Given the description of an element on the screen output the (x, y) to click on. 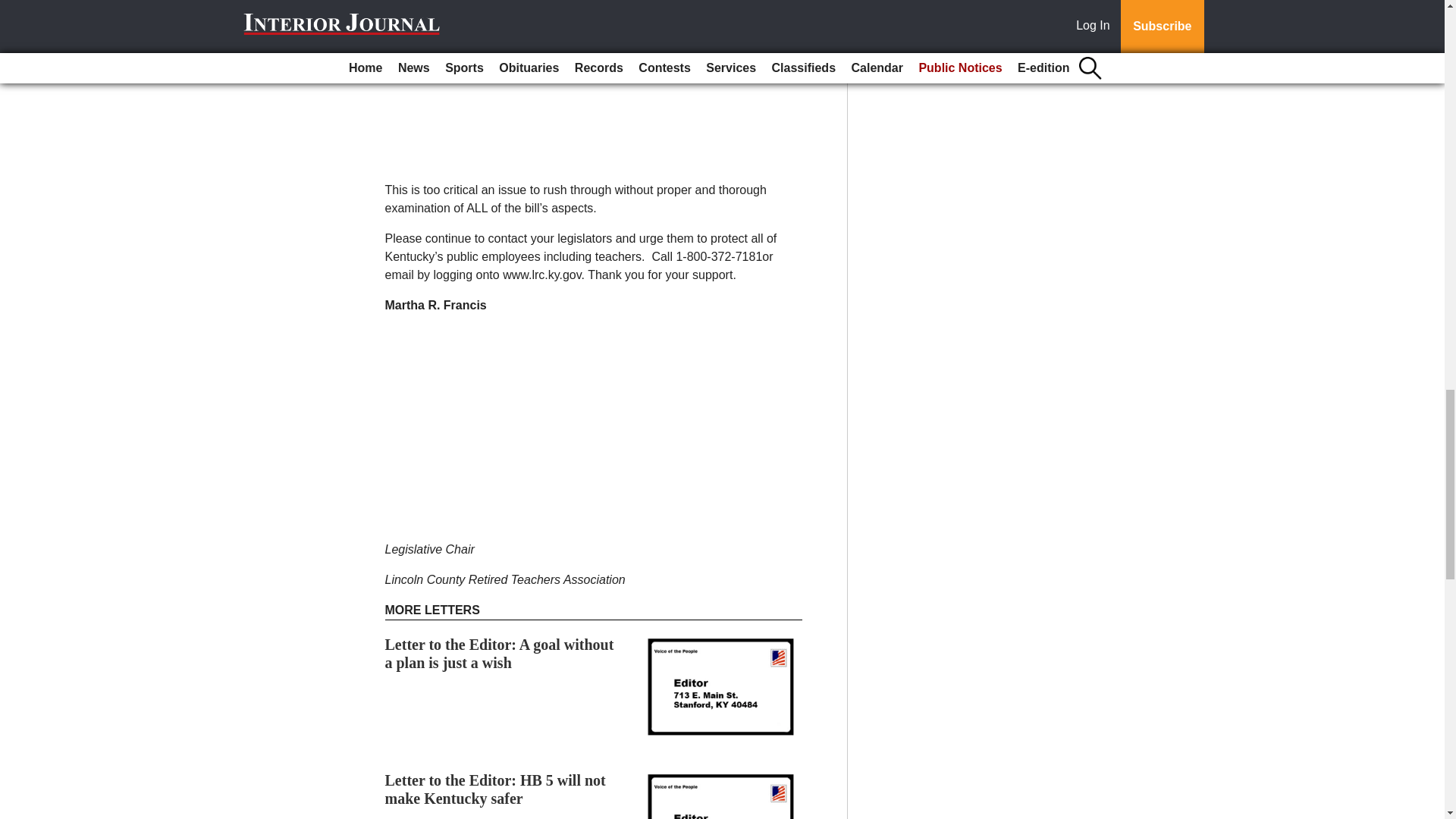
Letter to the Editor: HB 5 will not make Kentucky safer (495, 789)
Letter to the Editor: HB 5 will not make Kentucky safer (495, 789)
Letter to the Editor: A goal without a plan is just a wish (499, 653)
Letter to the Editor: A goal without a plan is just a wish (499, 653)
